Given the description of an element on the screen output the (x, y) to click on. 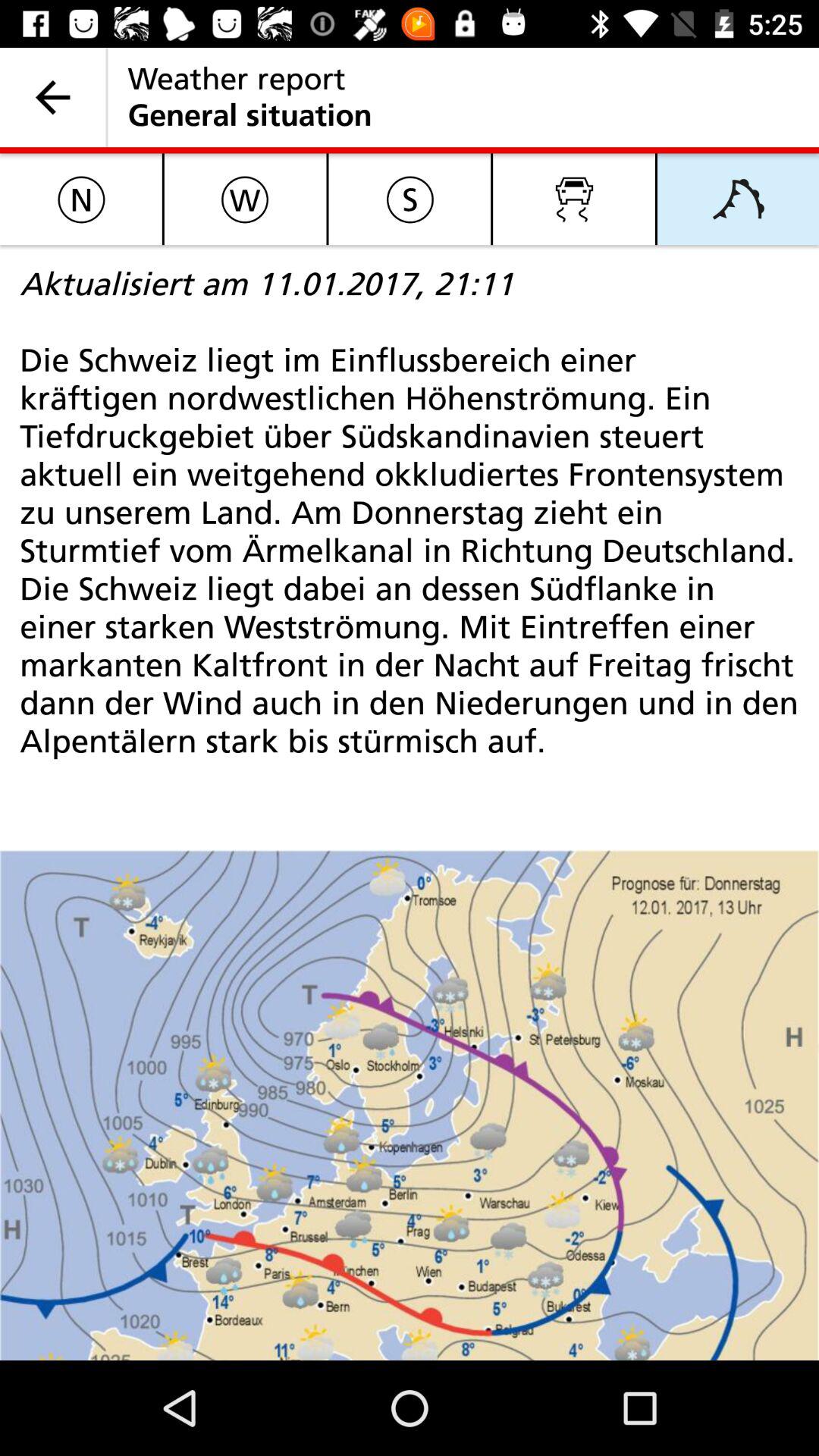
turn off icon above aktualisiert am 11 item (409, 199)
